Given the description of an element on the screen output the (x, y) to click on. 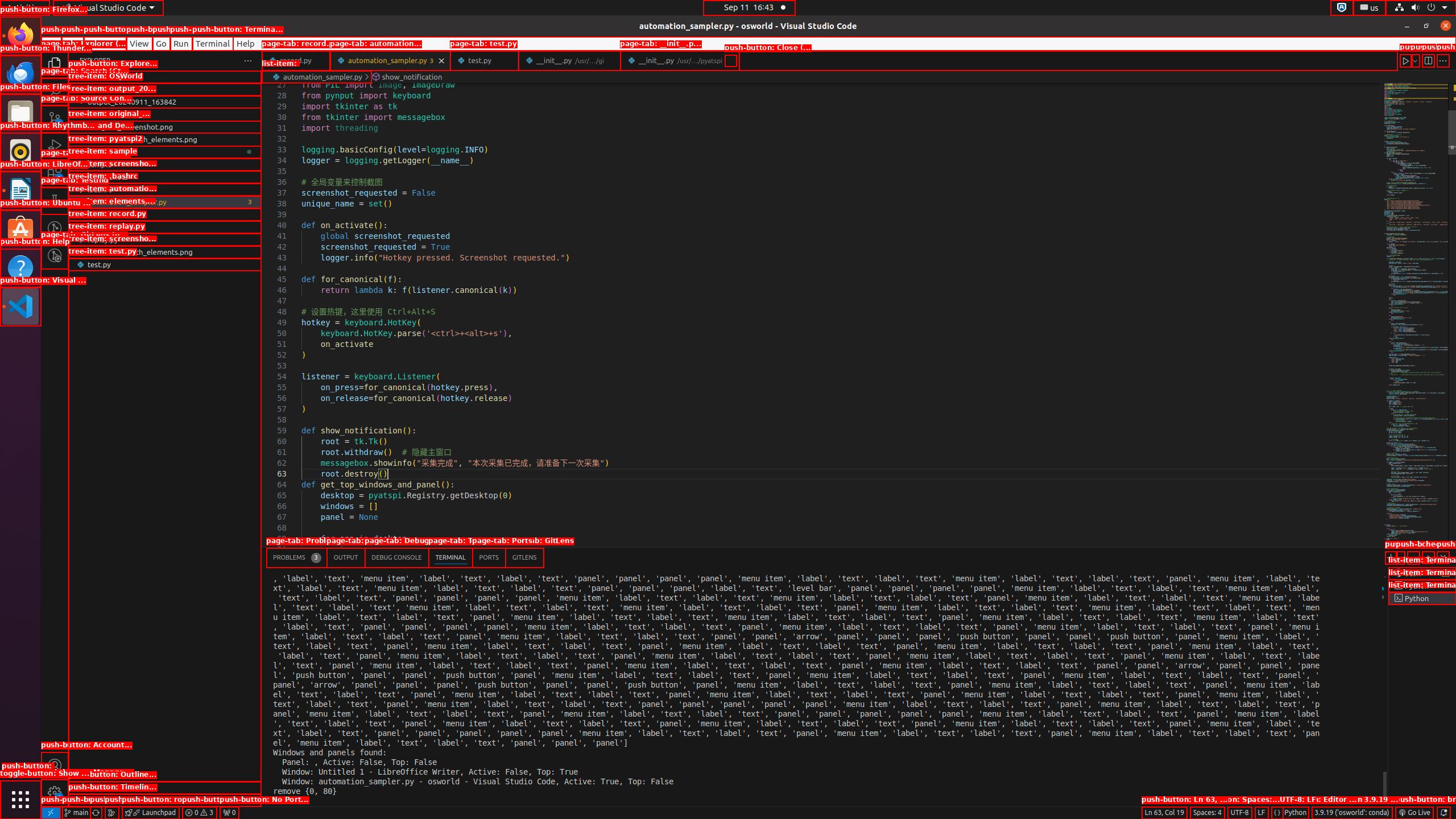
Editor Language Status: Auto Import Completions: false, next: Type Checking: off Element type: push-button (1277, 812)
Explorer (Ctrl+Shift+E) Element type: page-tab (54, 63)
sample Element type: tree-item (164, 164)
OSWorld (Git) - Synchronize Changes Element type: push-button (95, 812)
Spaces: 4 Element type: push-button (1206, 812)
